Given the description of an element on the screen output the (x, y) to click on. 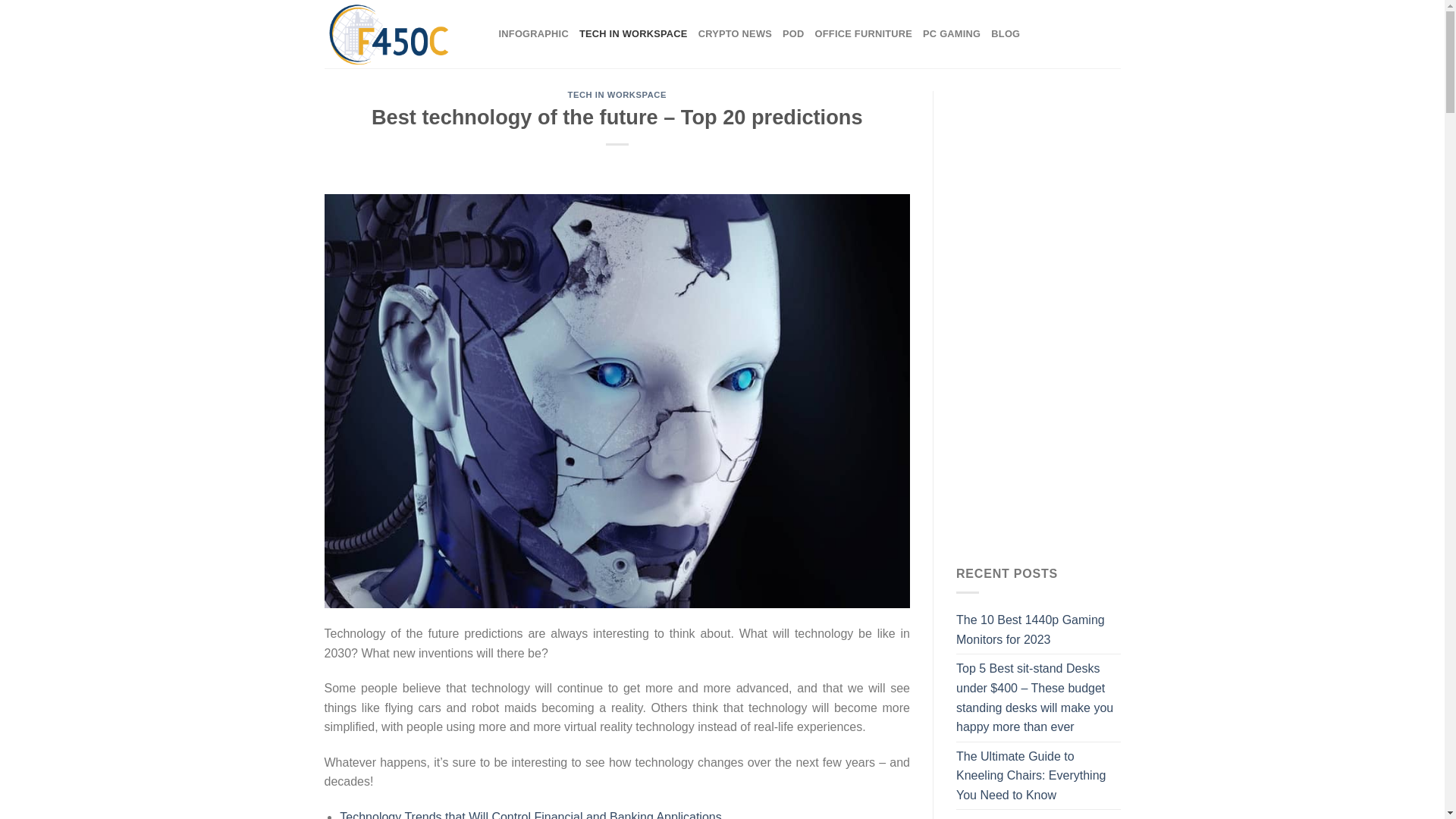
TECH IN WORKSPACE (616, 94)
OFFICE FURNITURE (863, 33)
CRYPTO NEWS (734, 33)
INFOGRAPHIC (534, 33)
BLOG (1005, 33)
TECH IN WORKSPACE (633, 33)
PC GAMING (951, 33)
